Given the description of an element on the screen output the (x, y) to click on. 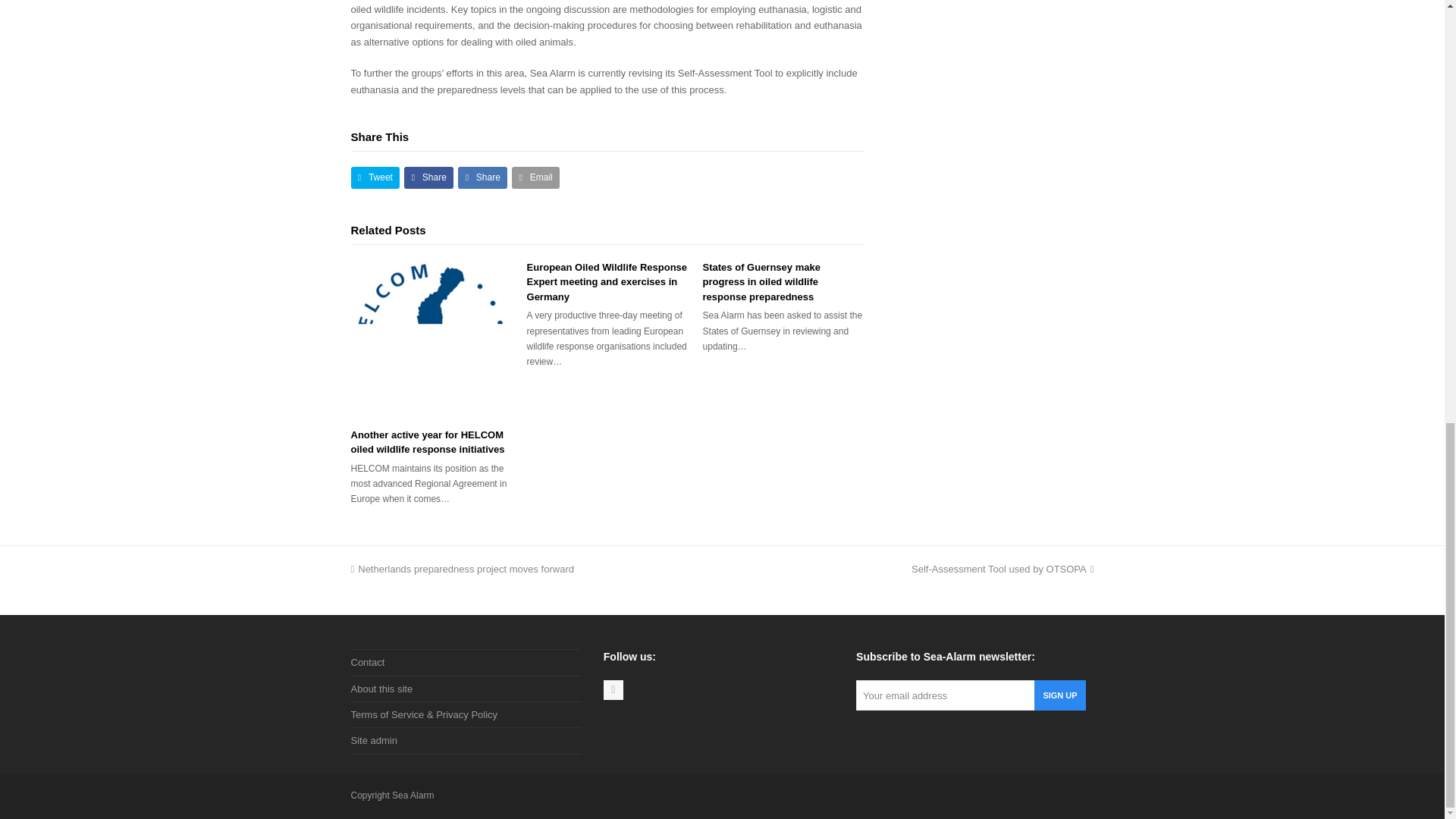
Email (535, 178)
Share (482, 178)
Tweet (374, 178)
Share (428, 178)
LinkedIn (613, 690)
